Given the description of an element on the screen output the (x, y) to click on. 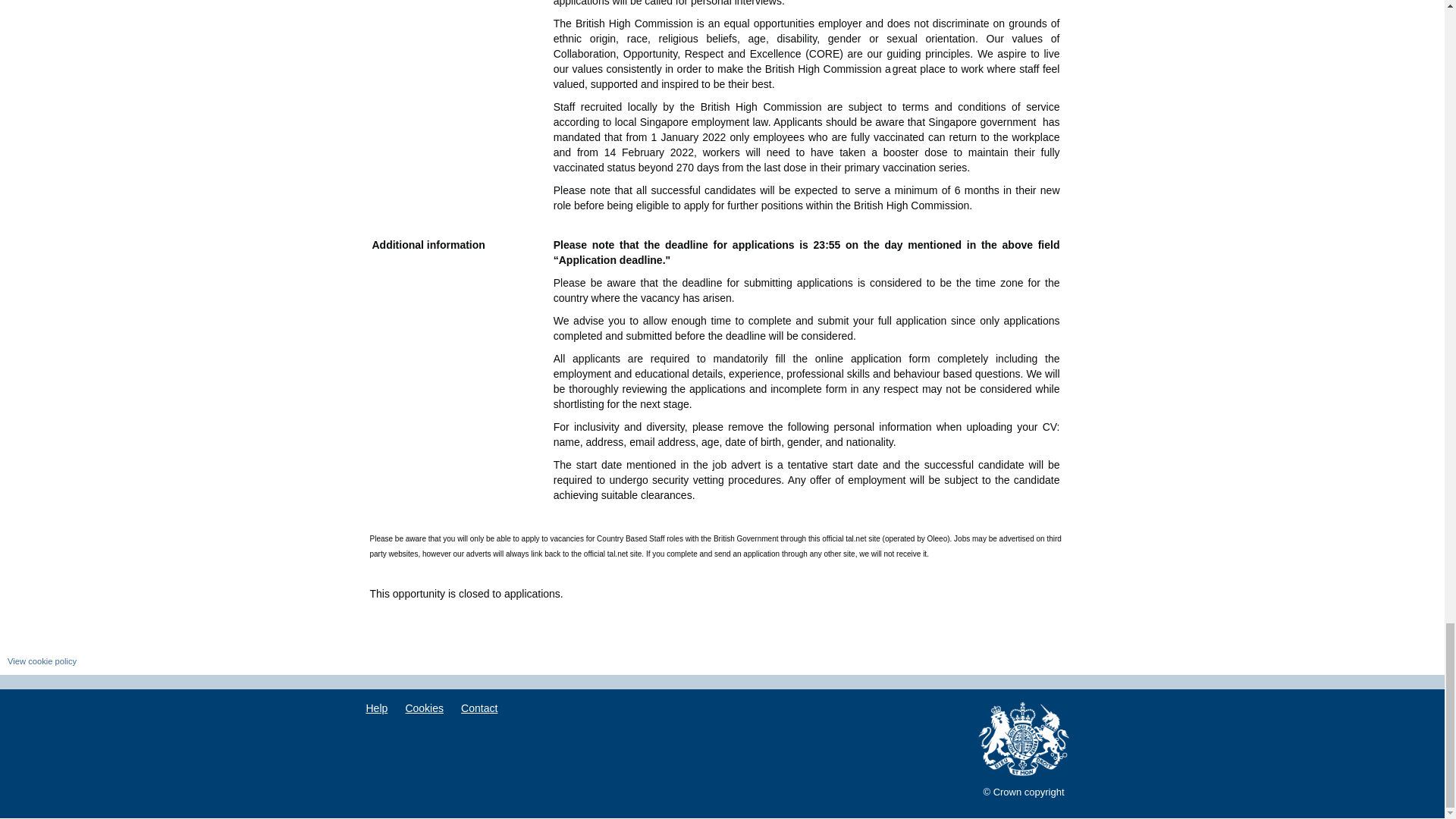
Help (376, 708)
Contact (478, 708)
View cookie policy (42, 660)
Cookies (424, 708)
